Given the description of an element on the screen output the (x, y) to click on. 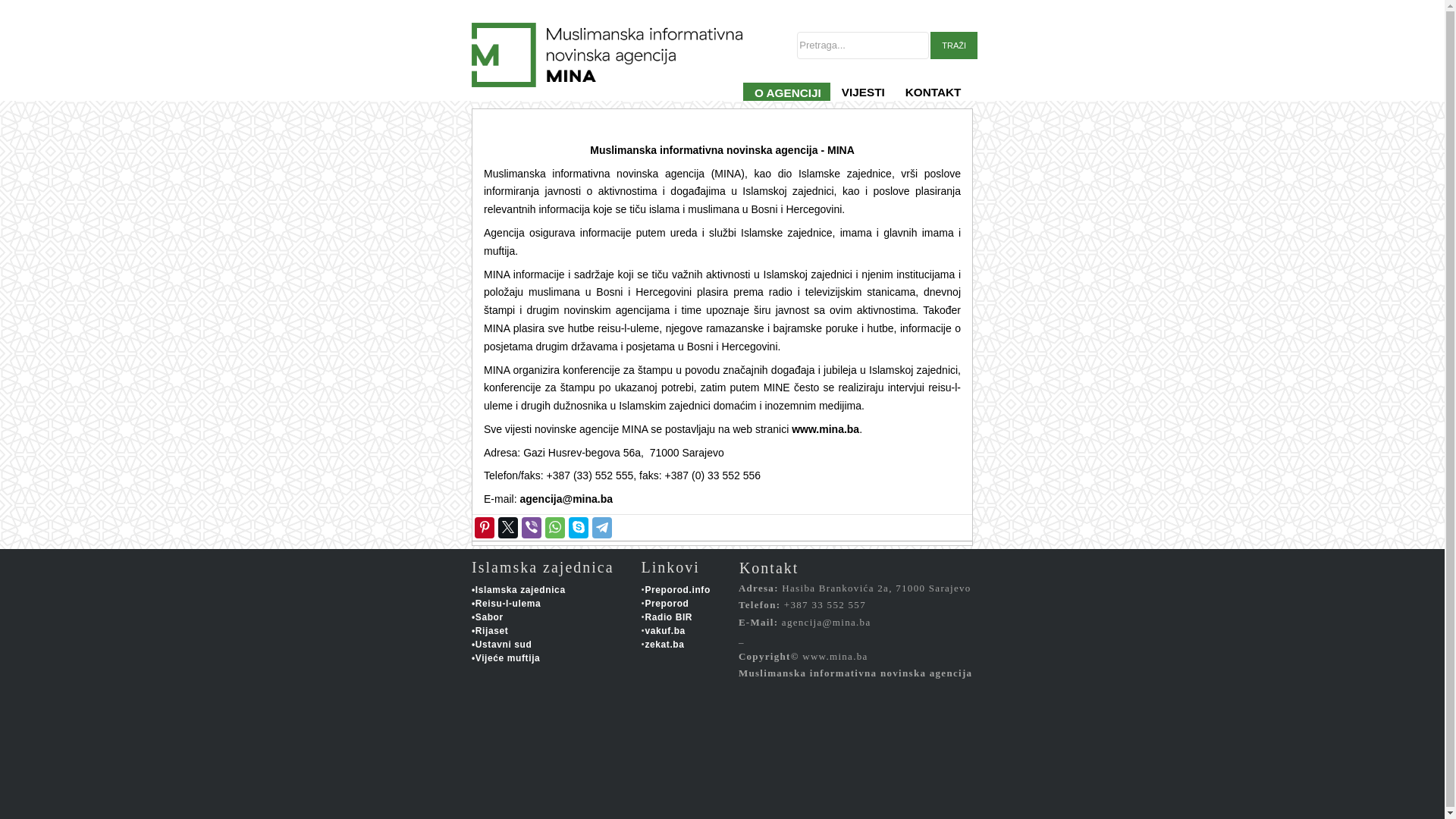
agencija@mina.ba Element type: text (565, 498)
Pinterest Element type: hover (483, 527)
Radio BIR Element type: text (668, 616)
zekat.ba Element type: text (664, 644)
VIJESTI Element type: text (862, 100)
NOVINSKA AGENCIJA - NEWS AGENCY Element type: text (628, 100)
Preporod Element type: text (666, 603)
vakuf.ba Element type: text (664, 630)
www.mina.ba Element type: text (825, 429)
WhatsApp Element type: hover (554, 527)
Preporod.info Element type: text (676, 589)
Telegram Element type: hover (601, 527)
KONTAKT Element type: text (932, 100)
Skype Element type: hover (577, 527)
Viber Element type: hover (530, 527)
O AGENCIJI Element type: text (786, 100)
Twitter Element type: hover (507, 527)
